Given the description of an element on the screen output the (x, y) to click on. 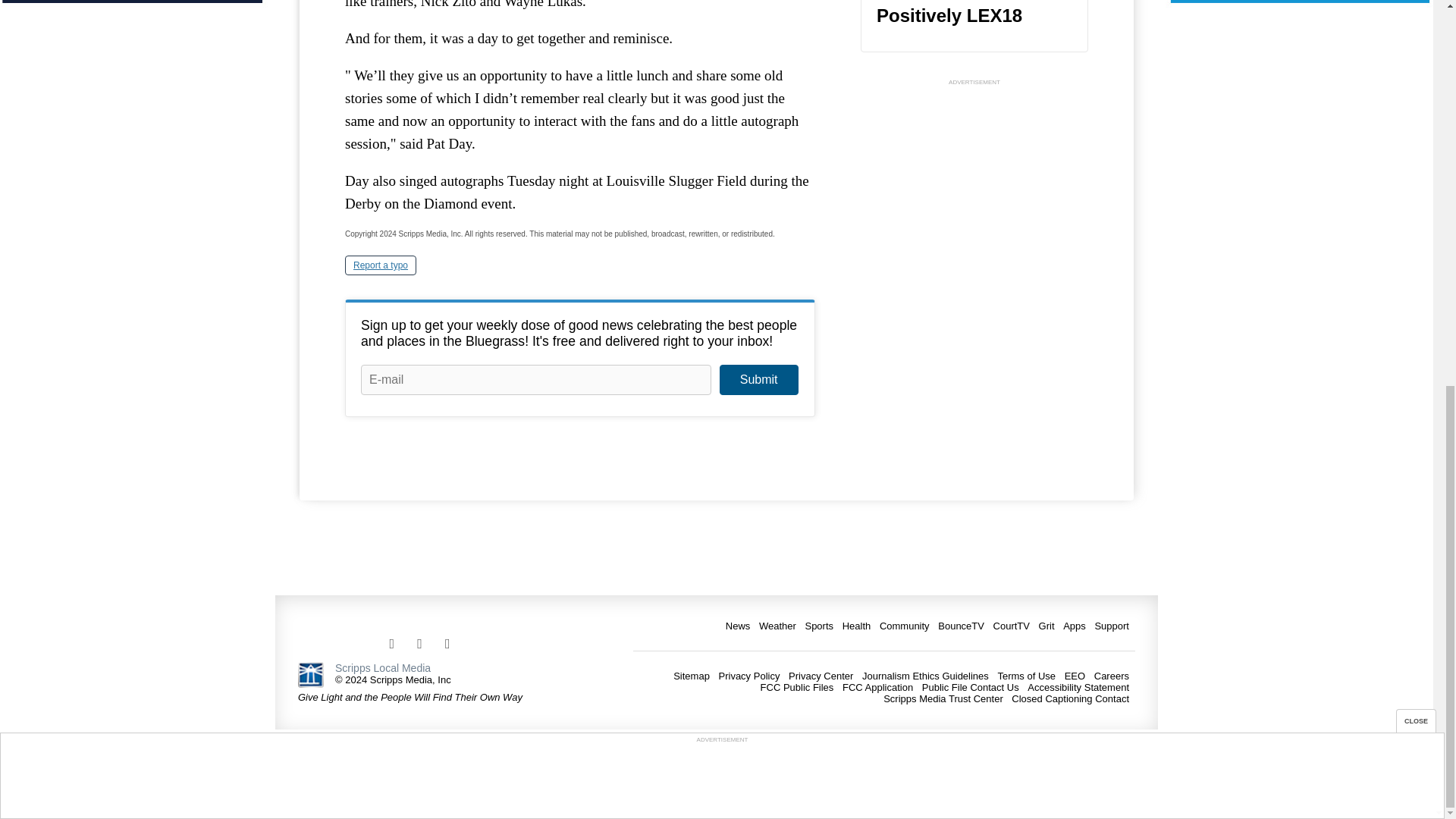
3rd party ad content (721, 53)
3rd party ad content (973, 184)
Submit (758, 379)
